Given the description of an element on the screen output the (x, y) to click on. 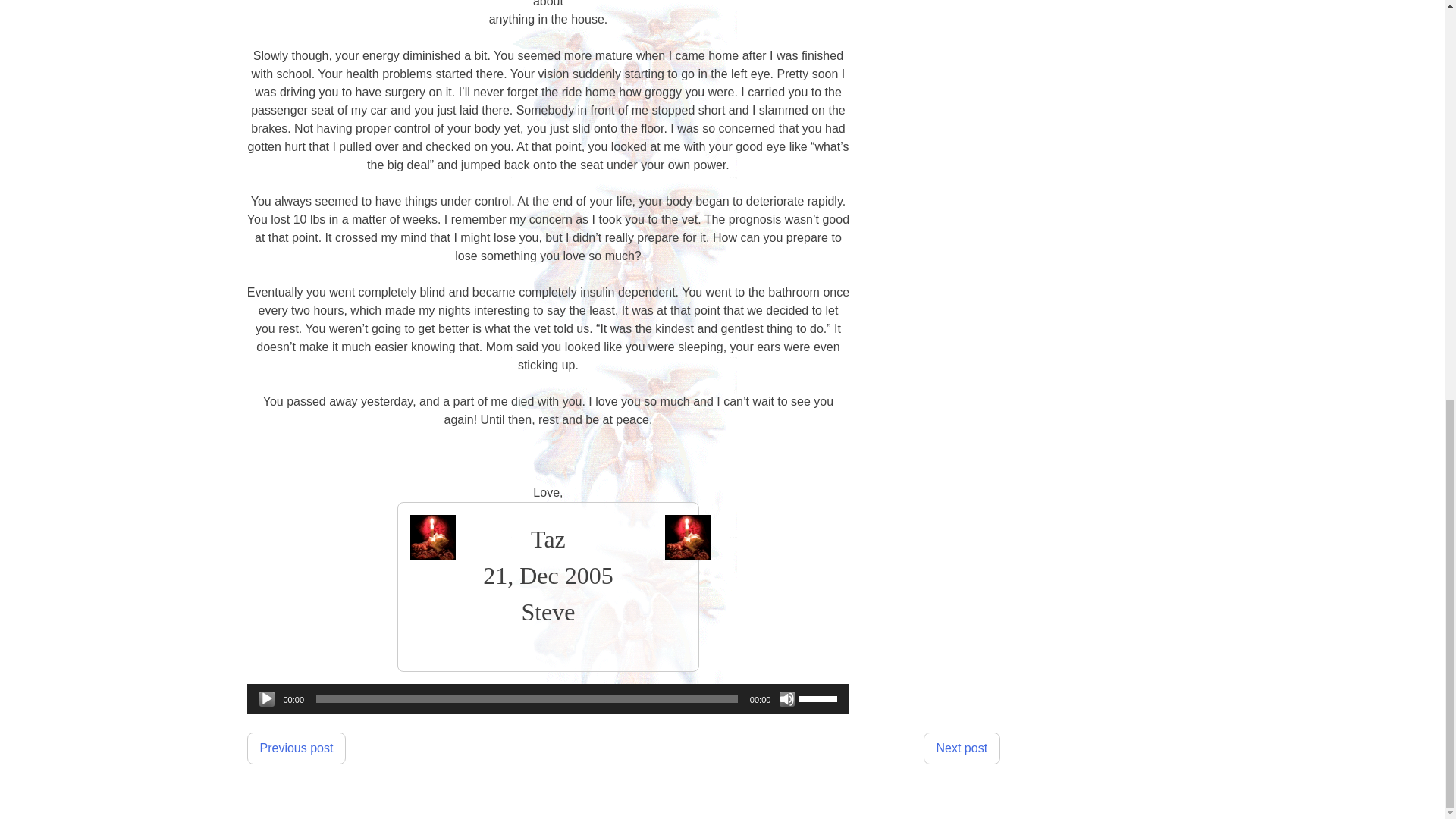
Play (267, 698)
Next post (962, 748)
Mute (786, 698)
Previous post (296, 748)
